Given the description of an element on the screen output the (x, y) to click on. 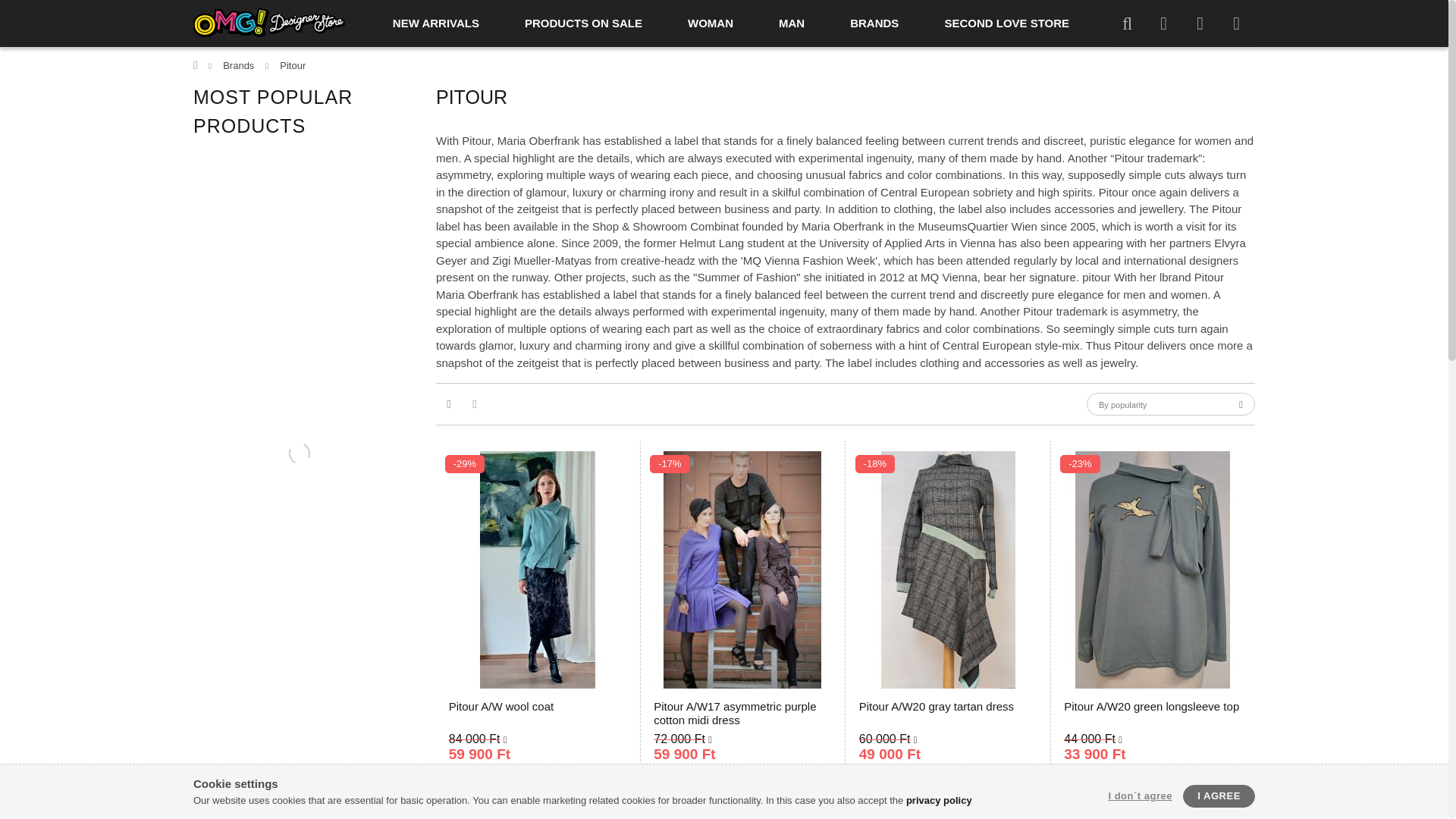
PRODUCTS ON SALE (583, 23)
Sort by (1170, 404)
View 2 (474, 403)
NEW ARRIVALS (435, 23)
View 1 (448, 403)
BRANDS (874, 23)
WOMAN (710, 23)
MAN (791, 23)
